Given the description of an element on the screen output the (x, y) to click on. 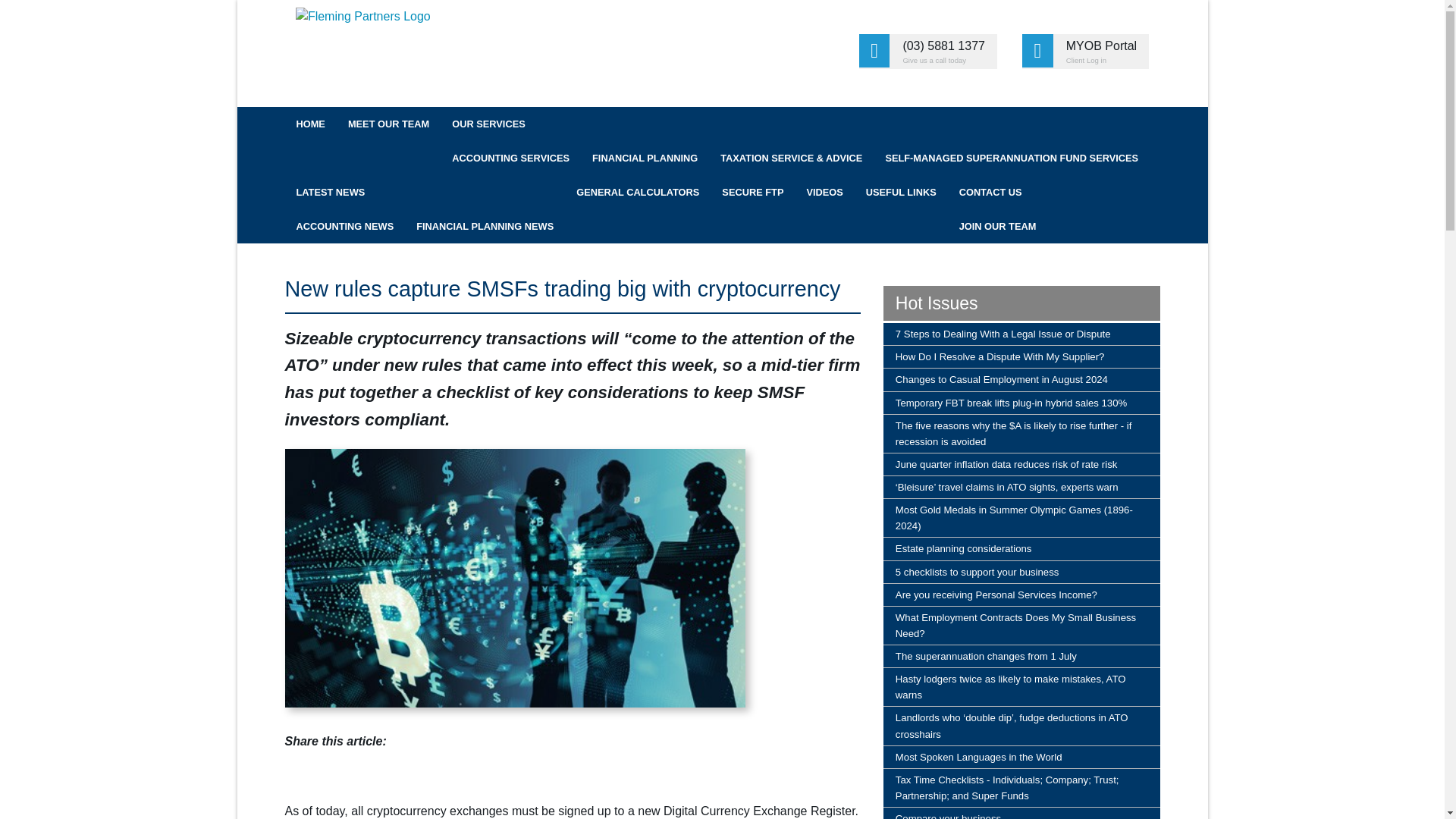
Are you receiving Personal Services Income? (1021, 594)
How Do I Resolve a Dispute With My Supplier? (1021, 356)
Most Spoken Languages in the World (1021, 757)
7 Steps to Dealing With a Legal Issue or Dispute (1021, 333)
Compare your business (1021, 813)
USEFUL LINKS (900, 192)
GENERAL CALCULATORS (637, 192)
JOIN OUR TEAM (997, 226)
CONTACT US (997, 192)
VIDEOS (823, 192)
